Given the description of an element on the screen output the (x, y) to click on. 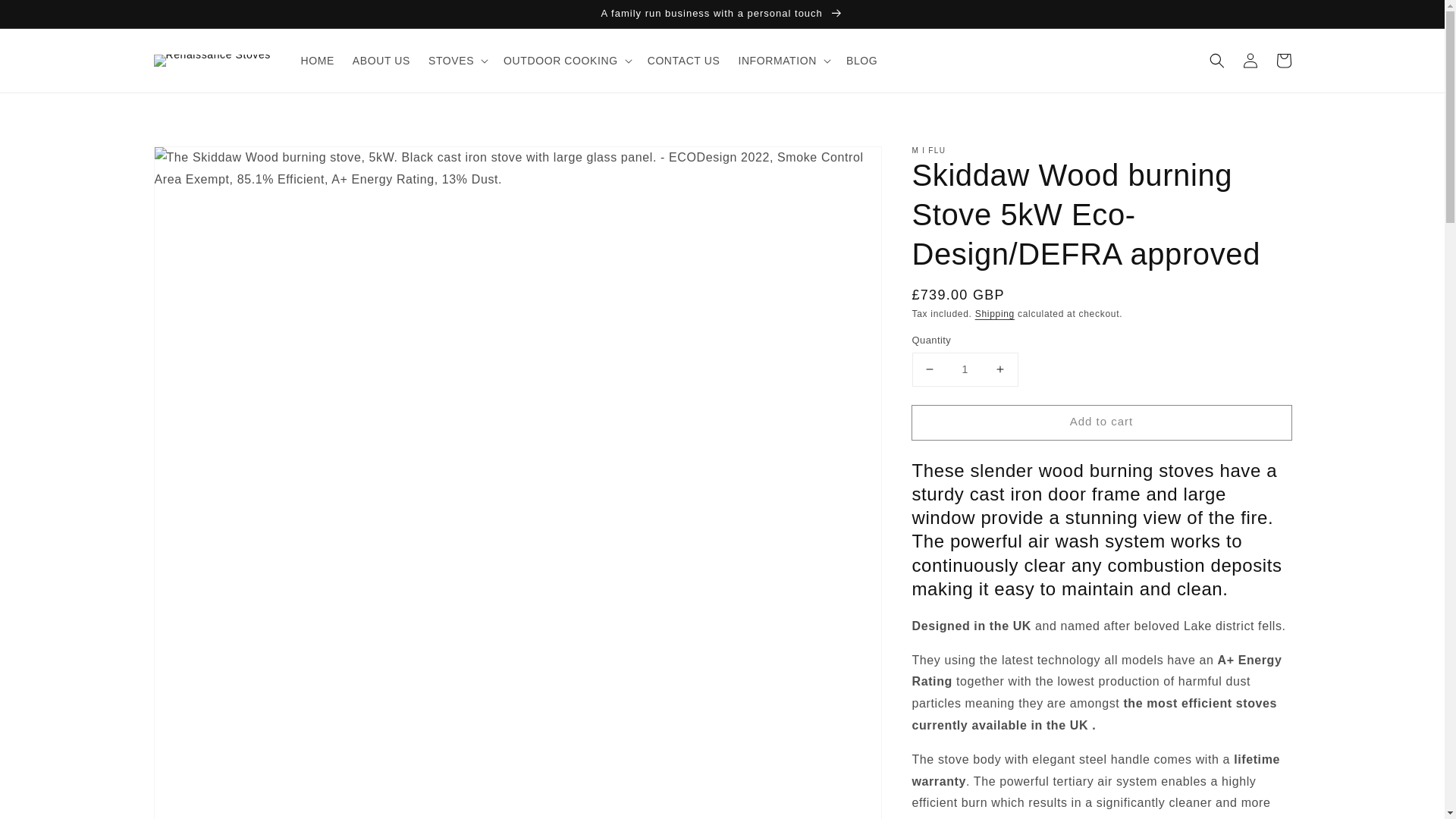
ABOUT US (381, 60)
Skip to content (45, 16)
HOME (316, 60)
1 (964, 368)
